Given the description of an element on the screen output the (x, y) to click on. 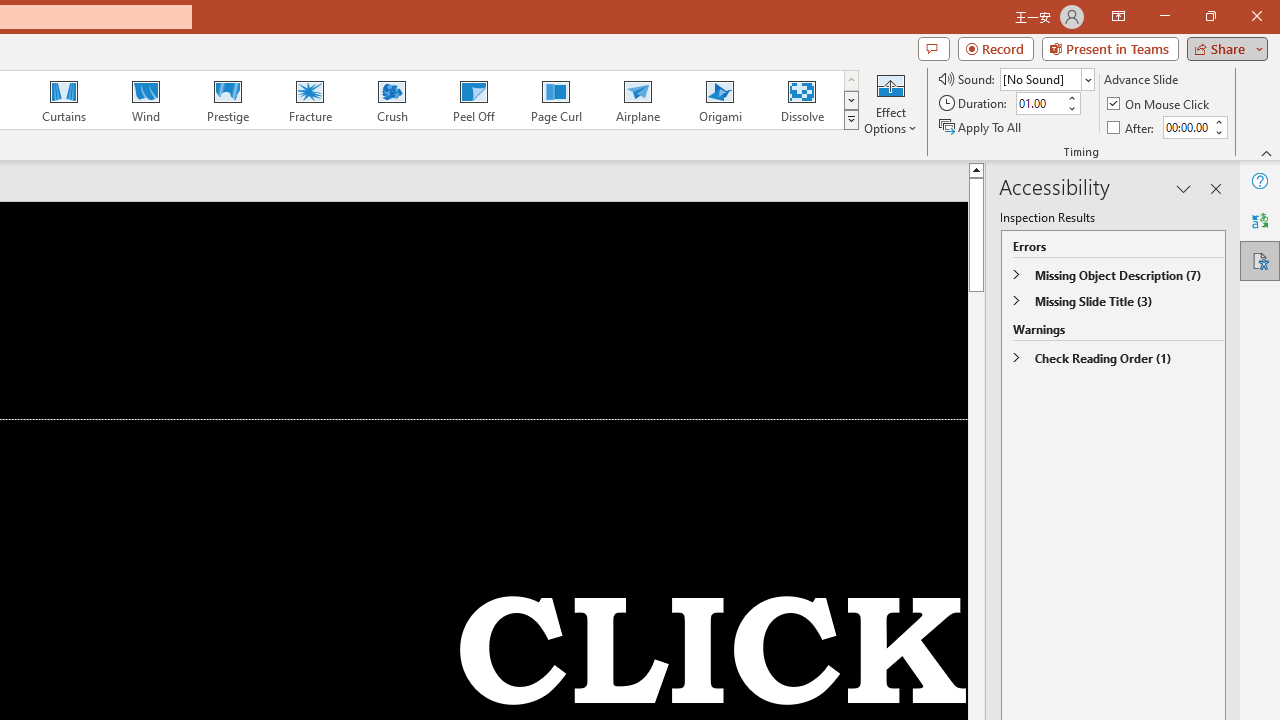
Transition Effects (850, 120)
Apply To All (981, 126)
On Mouse Click (1159, 103)
Sound (1046, 78)
Origami (719, 100)
